Given the description of an element on the screen output the (x, y) to click on. 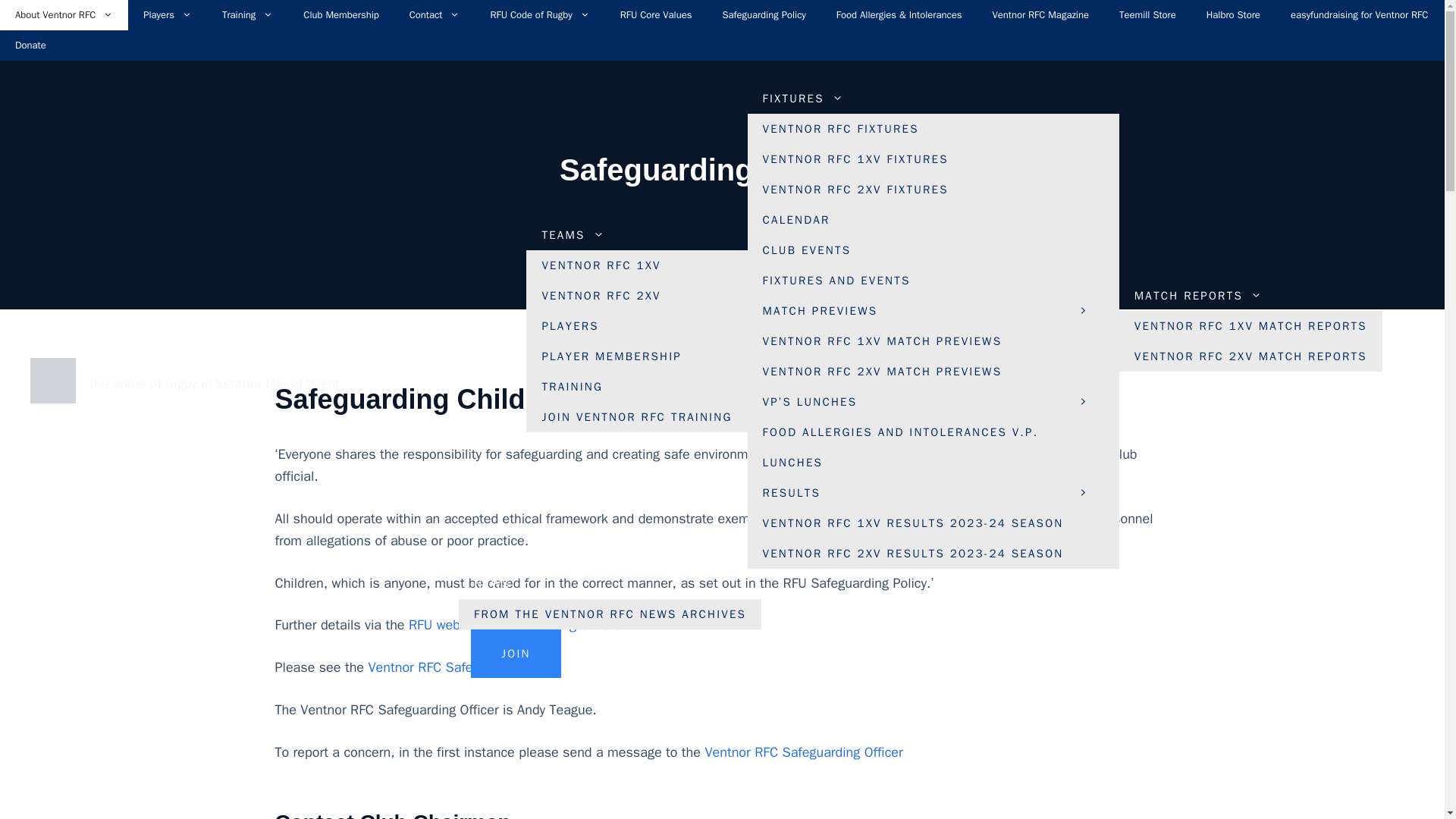
Club Membership (340, 15)
Contact (435, 15)
Players (167, 15)
RFU Code of Rugby (539, 15)
Safeguarding Policy (763, 15)
easyfundraising for Ventnor RFC (1358, 15)
About Ventnor RFC (64, 15)
Donate (30, 45)
Teemill Store (1147, 15)
RFU Core Values (656, 15)
Ventnor RFC Magazine (1039, 15)
Training (247, 15)
Halbro Store (1233, 15)
